Given the description of an element on the screen output the (x, y) to click on. 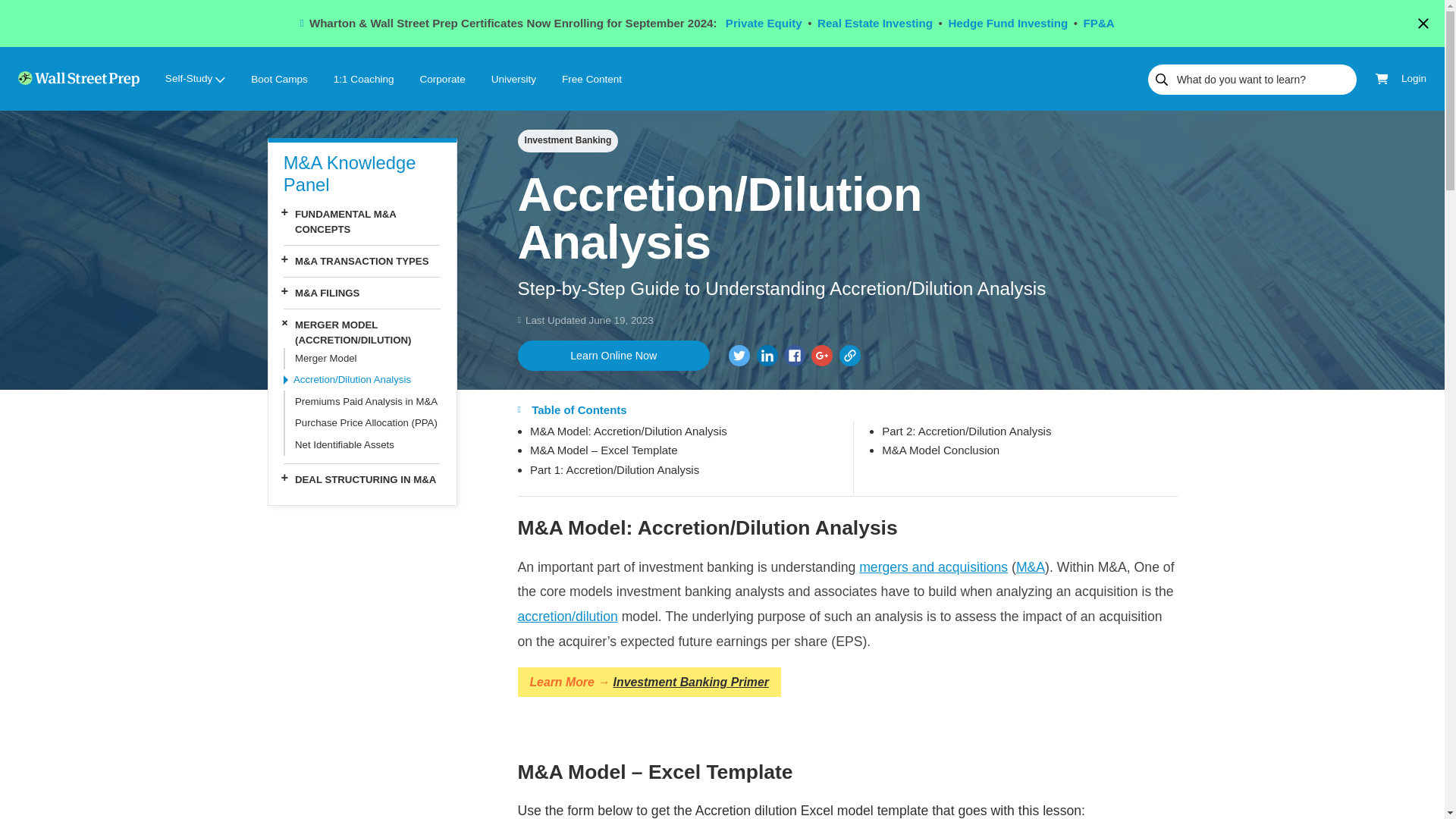
Private Equity (763, 22)
From Wall Street Prep (794, 355)
Real Estate Investing (874, 22)
Hedge Fund Investing (1007, 22)
